Given the description of an element on the screen output the (x, y) to click on. 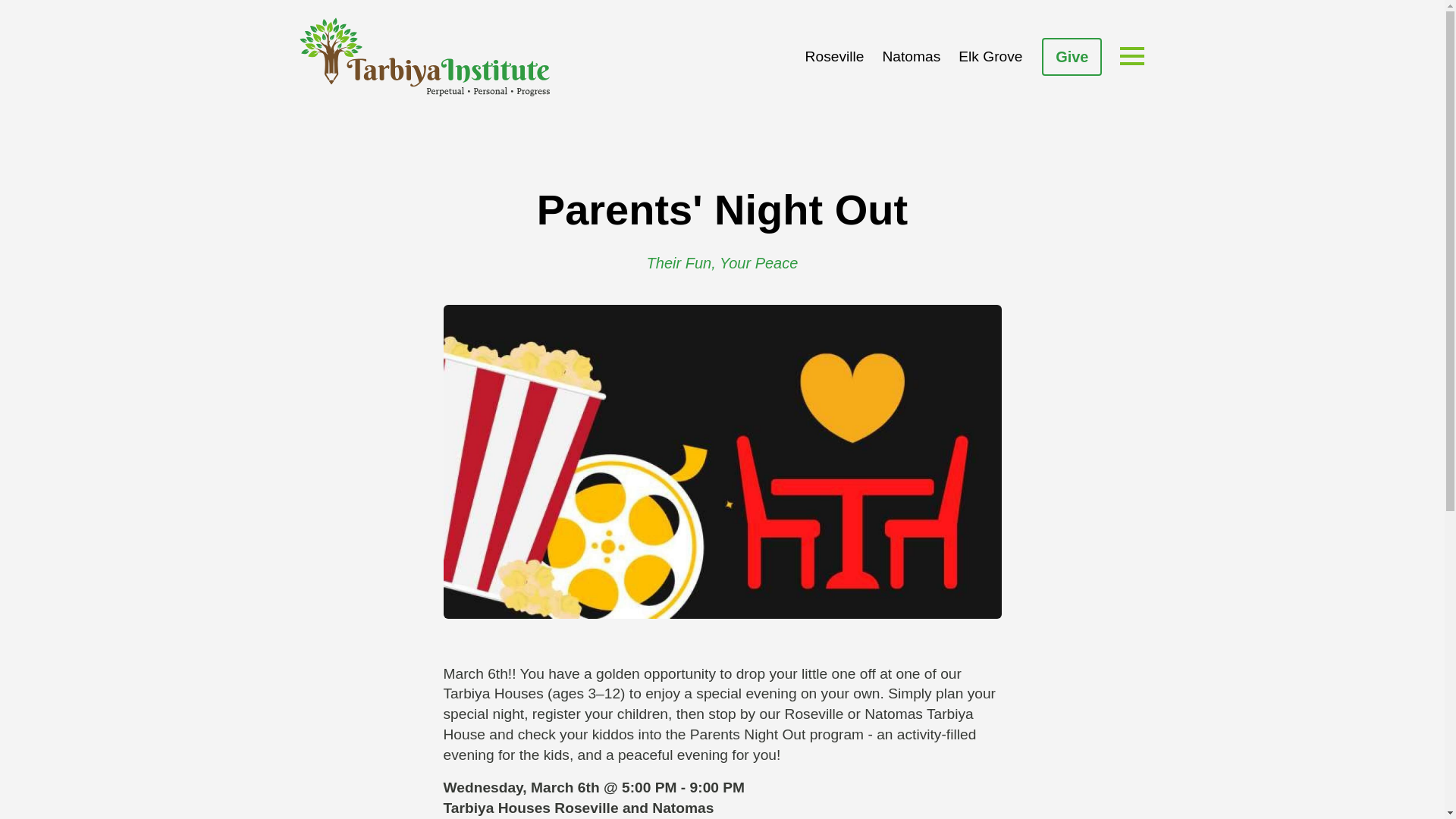
Roseville (834, 56)
Elk Grove (989, 56)
Natomas (910, 56)
Tarbiya Institute (423, 56)
Give (1072, 56)
